Given the description of an element on the screen output the (x, y) to click on. 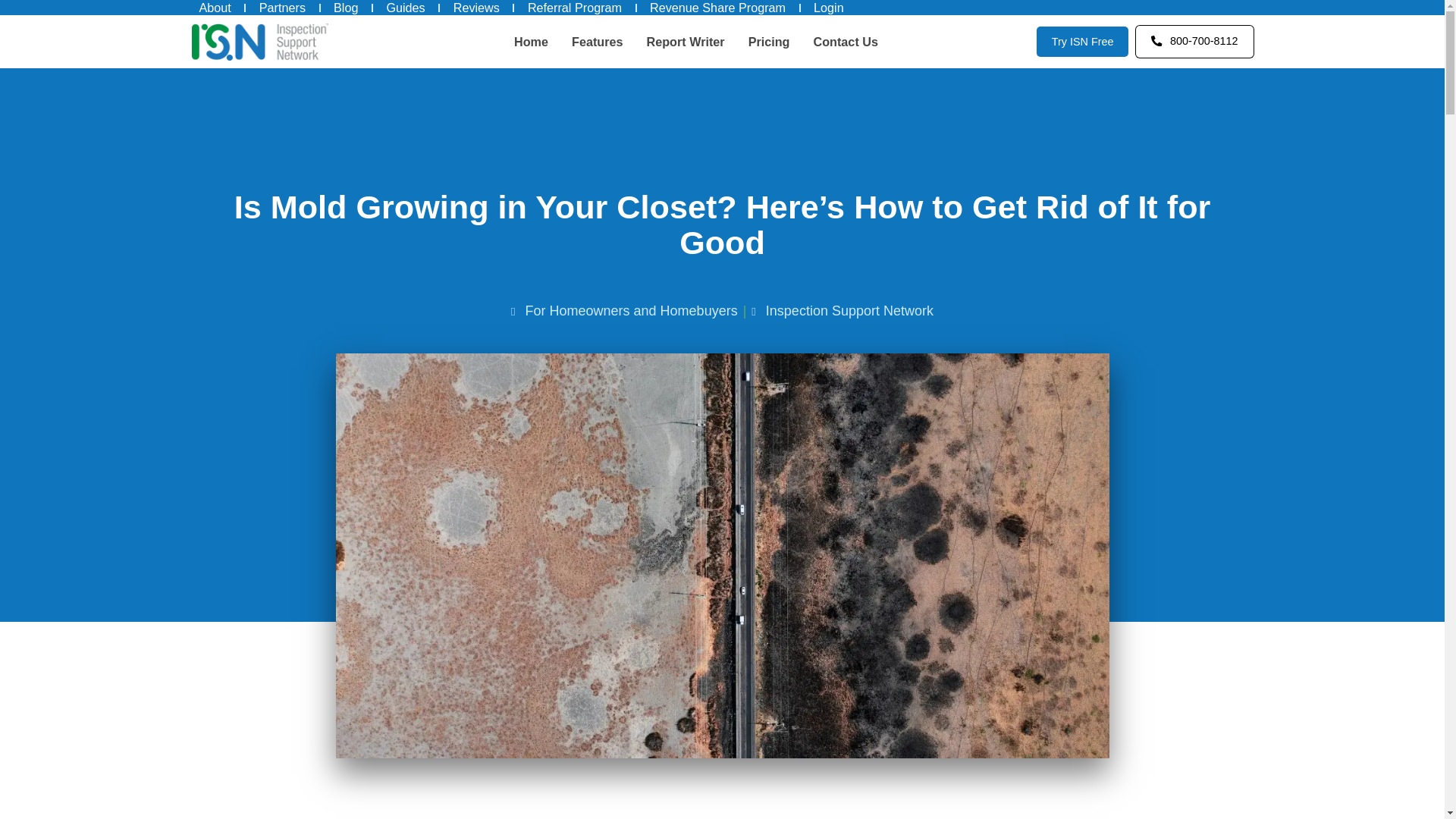
Features (597, 41)
Reviews (475, 7)
800-700-8112 (1193, 41)
Report Writer (684, 41)
Guides (405, 7)
Contact Us (845, 41)
Partners (282, 7)
Pricing (769, 41)
Login (828, 7)
Blog (345, 7)
